Given the description of an element on the screen output the (x, y) to click on. 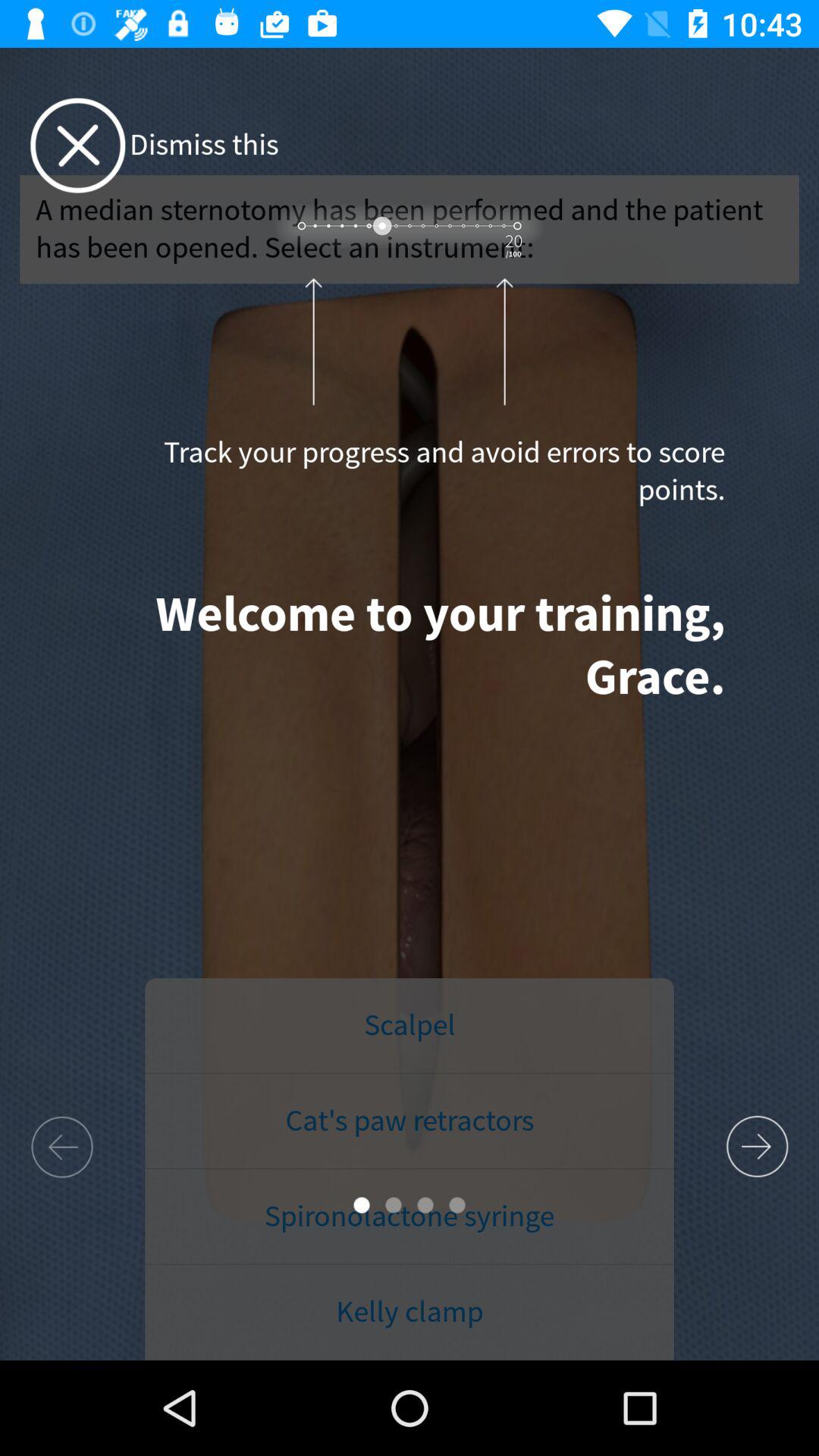
open kelly clamp (409, 1312)
